Given the description of an element on the screen output the (x, y) to click on. 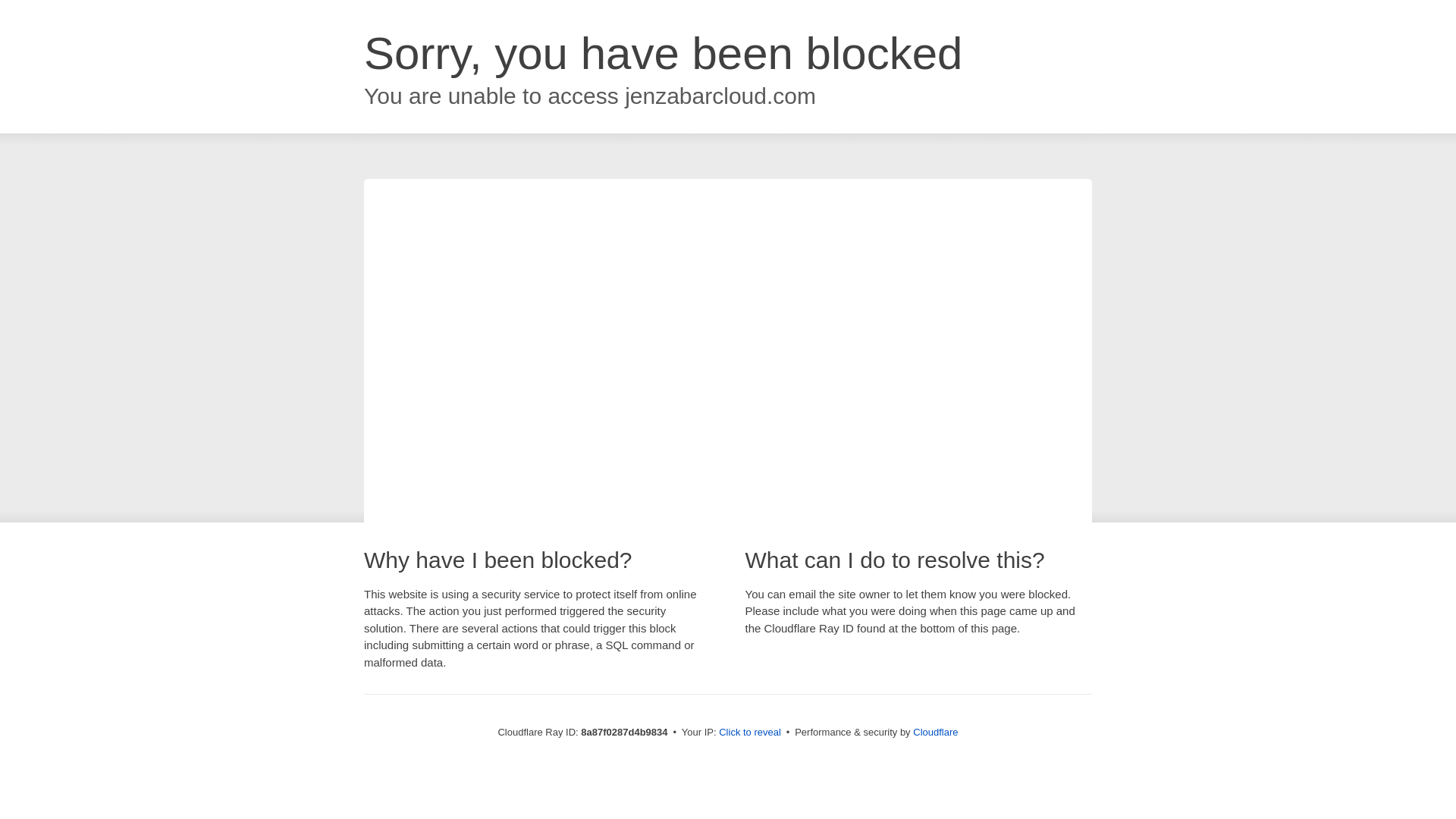
Click to reveal (749, 732)
Cloudflare (935, 731)
